Given the description of an element on the screen output the (x, y) to click on. 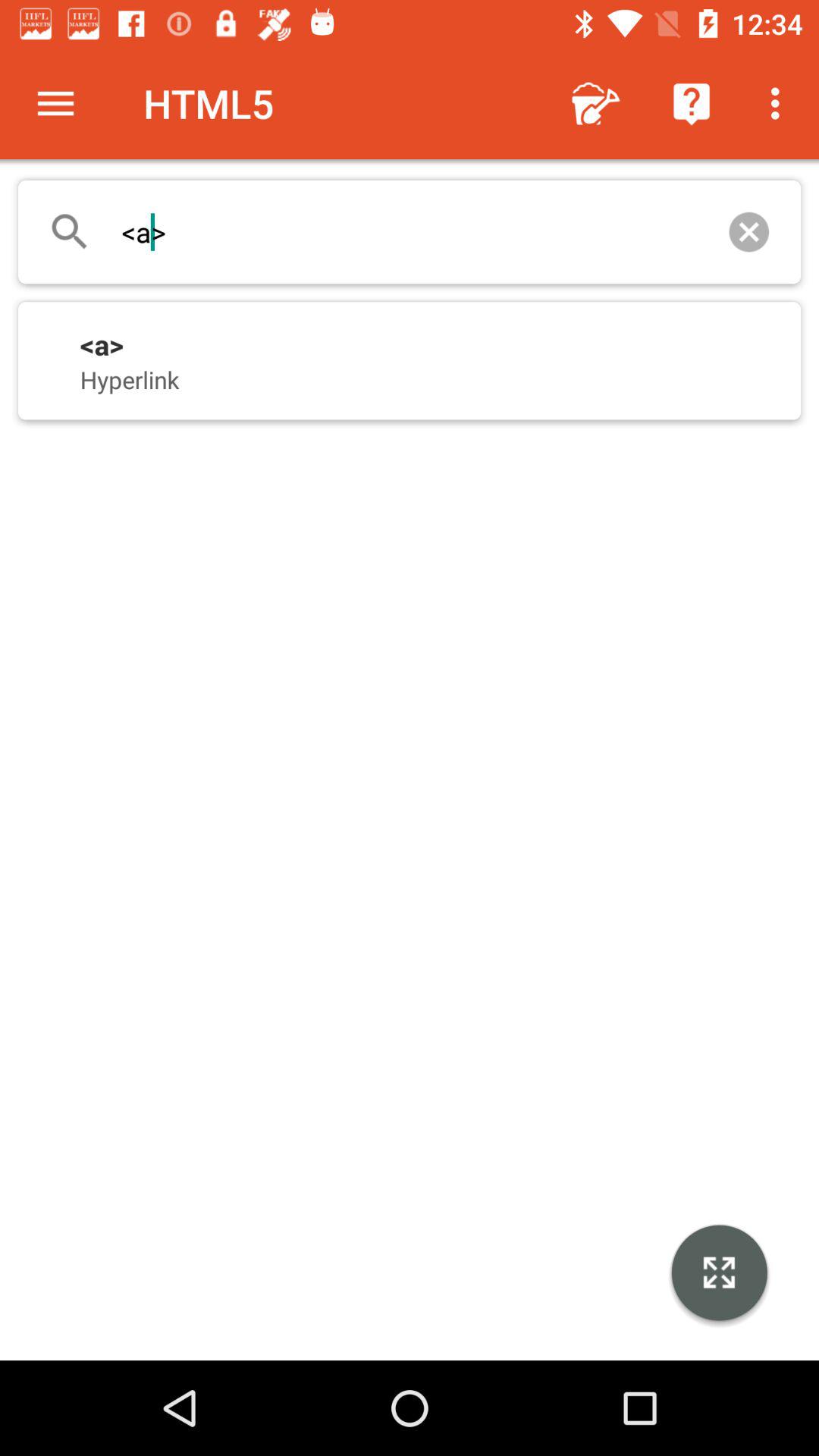
press icon at the bottom right corner (719, 1274)
